Given the description of an element on the screen output the (x, y) to click on. 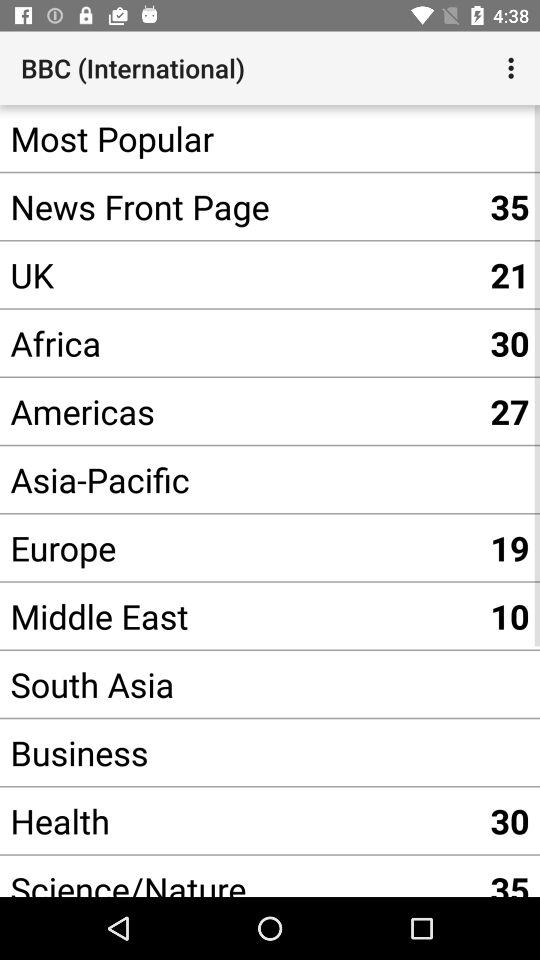
turn off the icon to the left of the 10 item (240, 684)
